Given the description of an element on the screen output the (x, y) to click on. 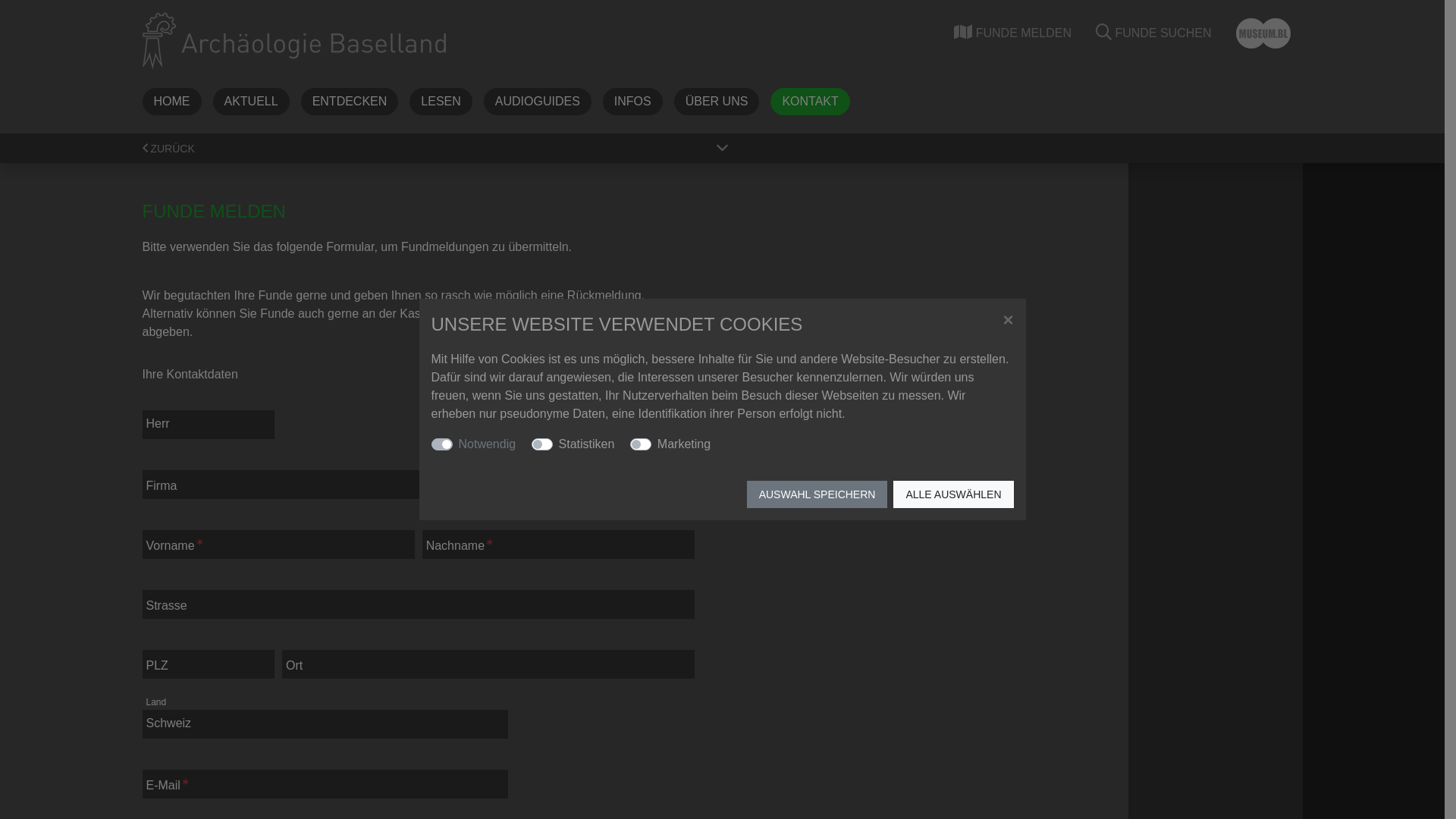
FUNDE SUCHEN Element type: text (1153, 33)
HOME Element type: text (171, 101)
LESEN Element type: text (440, 101)
AKTUELL Element type: text (250, 101)
FUNDE MELDEN Element type: text (1012, 33)
AUDIOGUIDES Element type: text (537, 101)
ENTDECKEN Element type: text (349, 101)
KONTAKT Element type: text (809, 101)
INFOS Element type: text (632, 101)
AUSWAHL SPEICHERN Element type: text (817, 494)
